Given the description of an element on the screen output the (x, y) to click on. 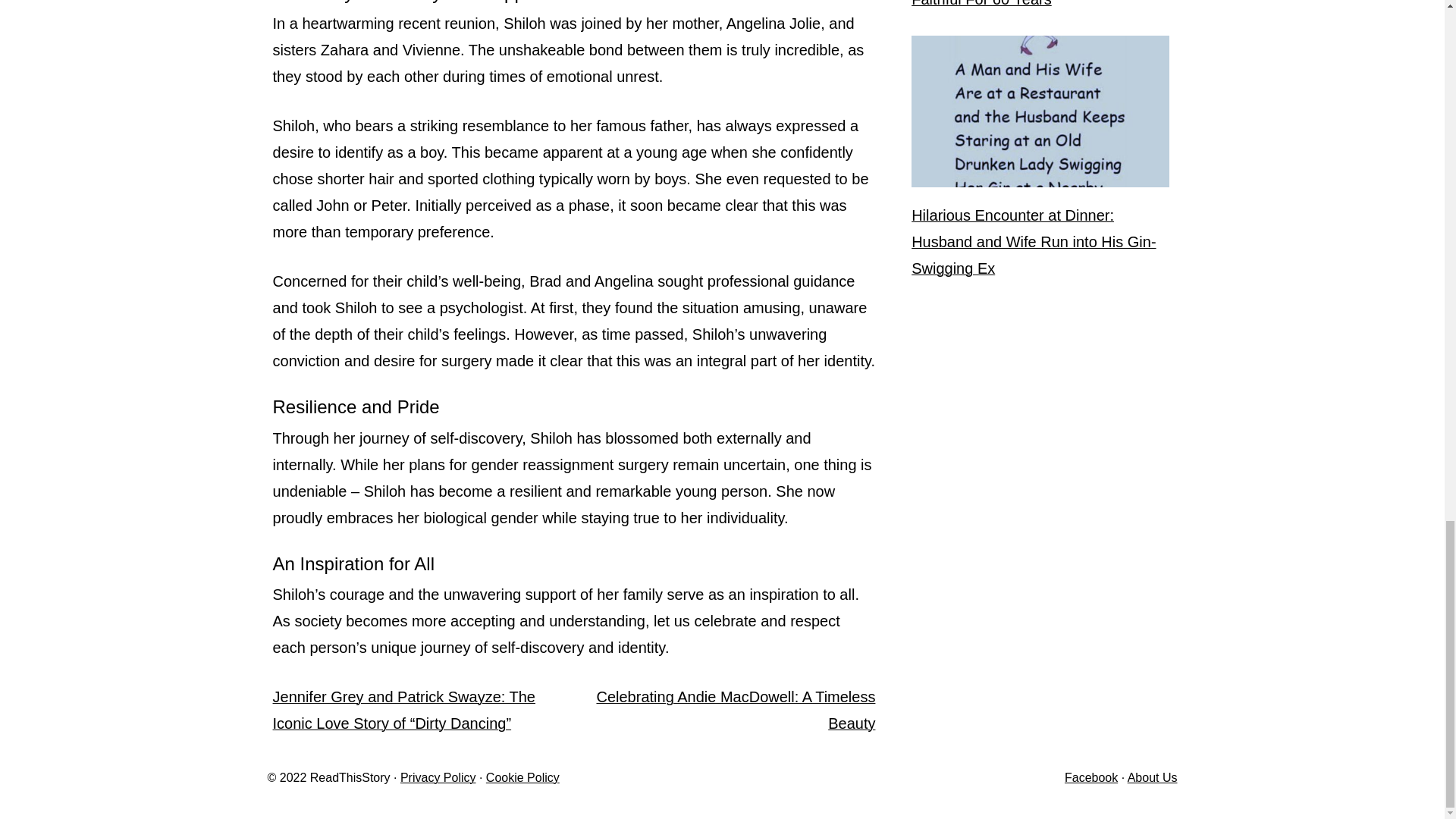
Celebrating Andie MacDowell: A Timeless Beauty (735, 710)
Facebook (1091, 777)
Privacy Policy (438, 777)
Cookie Policy (522, 777)
About Us (1151, 777)
